Given the description of an element on the screen output the (x, y) to click on. 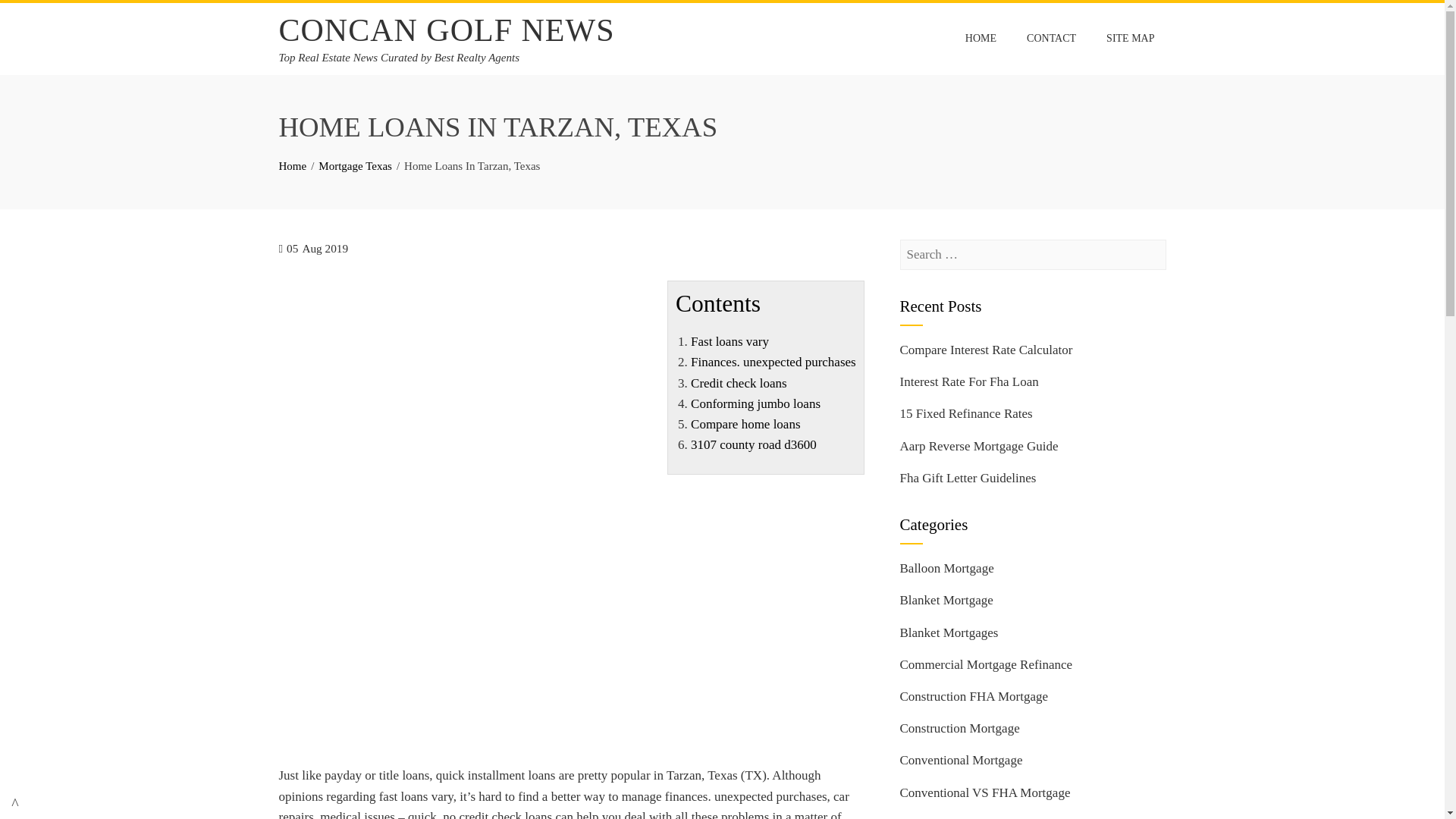
HOME (980, 38)
Construction Mortgage (959, 728)
FHA 203k Mortgage (953, 818)
CONCAN GOLF NEWS (446, 30)
Top Real Estate News Curated by Best Realty Agents (399, 57)
Conventional Mortgage (960, 759)
Credit check loans (738, 382)
Compare Interest Rate Calculator (985, 350)
Finances. unexpected purchases (773, 361)
Conforming jumbo loans (755, 403)
Compare home loans (744, 423)
Conventional VS FHA Mortgage (984, 792)
Fha Gift Letter Guidelines (967, 477)
Blanket Mortgage (945, 599)
CONTACT (1050, 38)
